Given the description of an element on the screen output the (x, y) to click on. 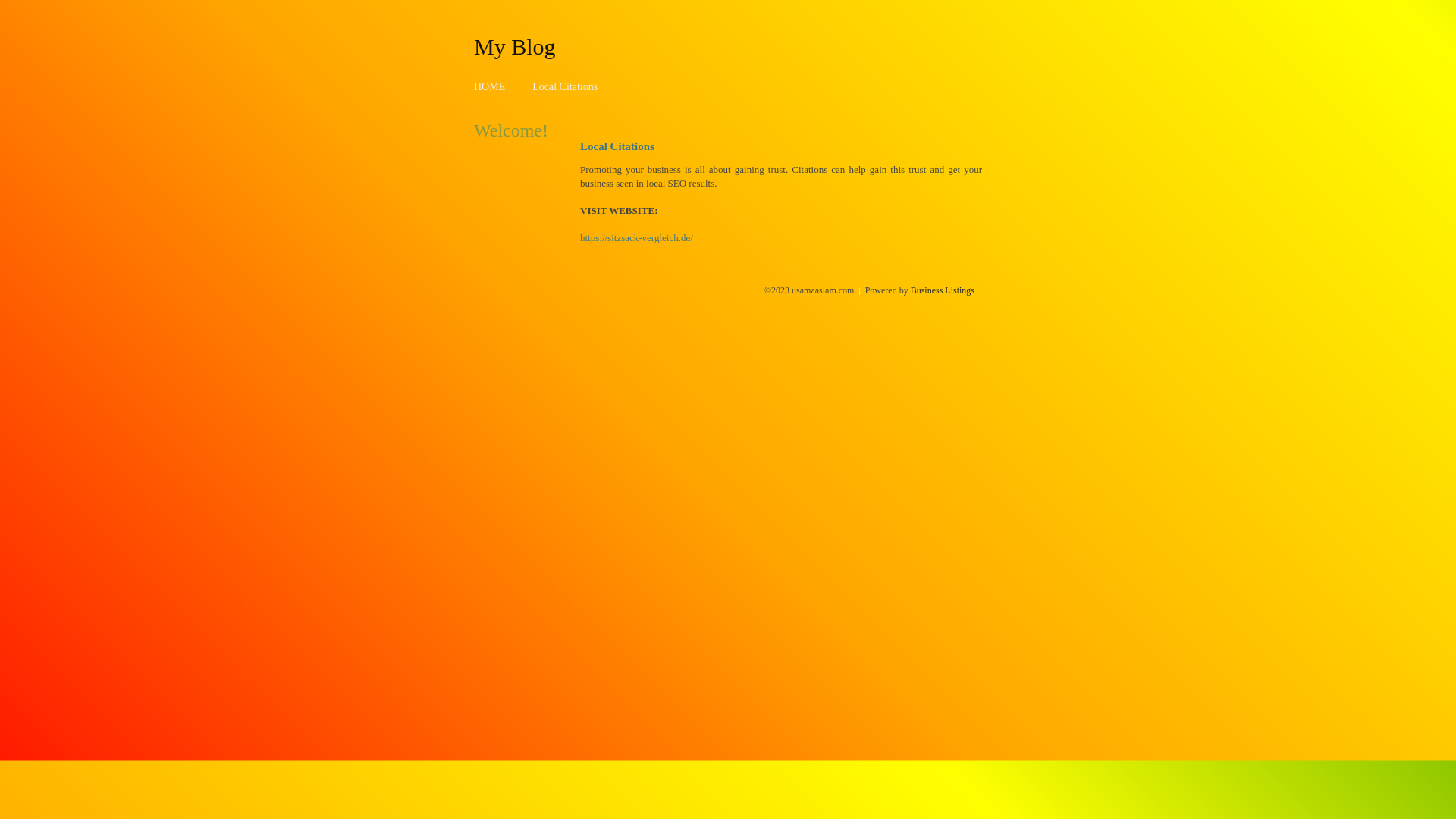
https://sitzsack-vergleich.de/ Element type: text (636, 237)
Local Citations Element type: text (564, 86)
Business Listings Element type: text (942, 290)
My Blog Element type: text (514, 46)
HOME Element type: text (489, 86)
